Given the description of an element on the screen output the (x, y) to click on. 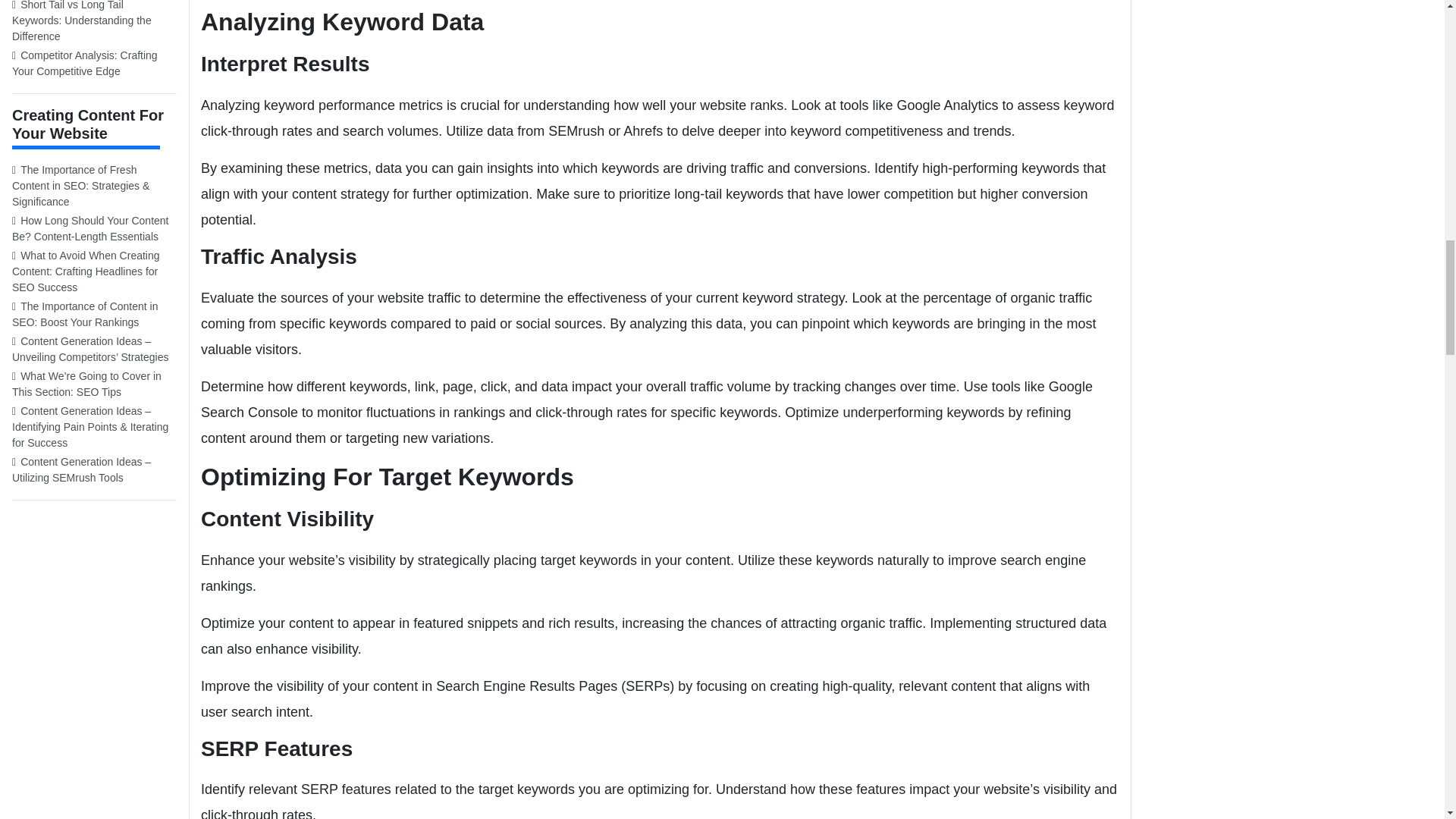
Competitor Analysis: Crafting Your Competitive Edge (93, 63)
How Long Should Your Content Be? Content-Length Essentials (93, 228)
